Given the description of an element on the screen output the (x, y) to click on. 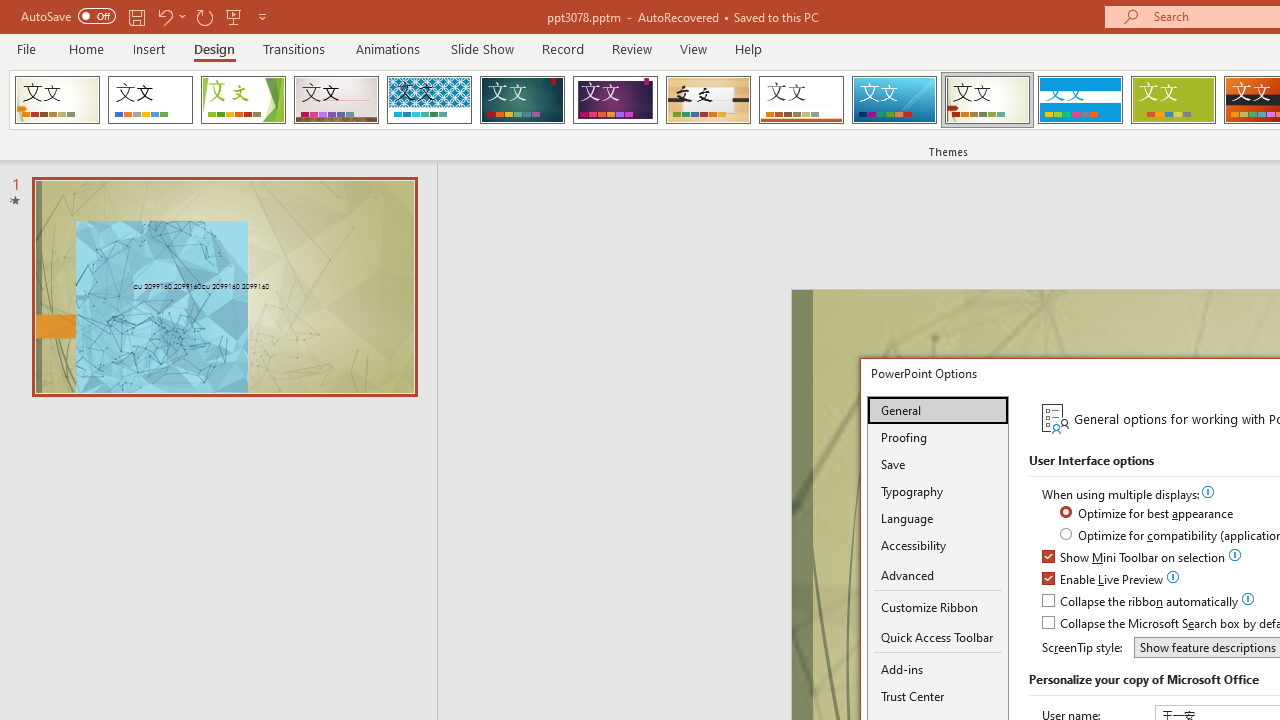
Trust Center (937, 696)
Facet (243, 100)
Organic Loading Preview... (708, 100)
Advanced (937, 576)
Customize Ribbon (937, 607)
Ion Boardroom Loading Preview... (615, 100)
Enable Live Preview (1104, 579)
